Given the description of an element on the screen output the (x, y) to click on. 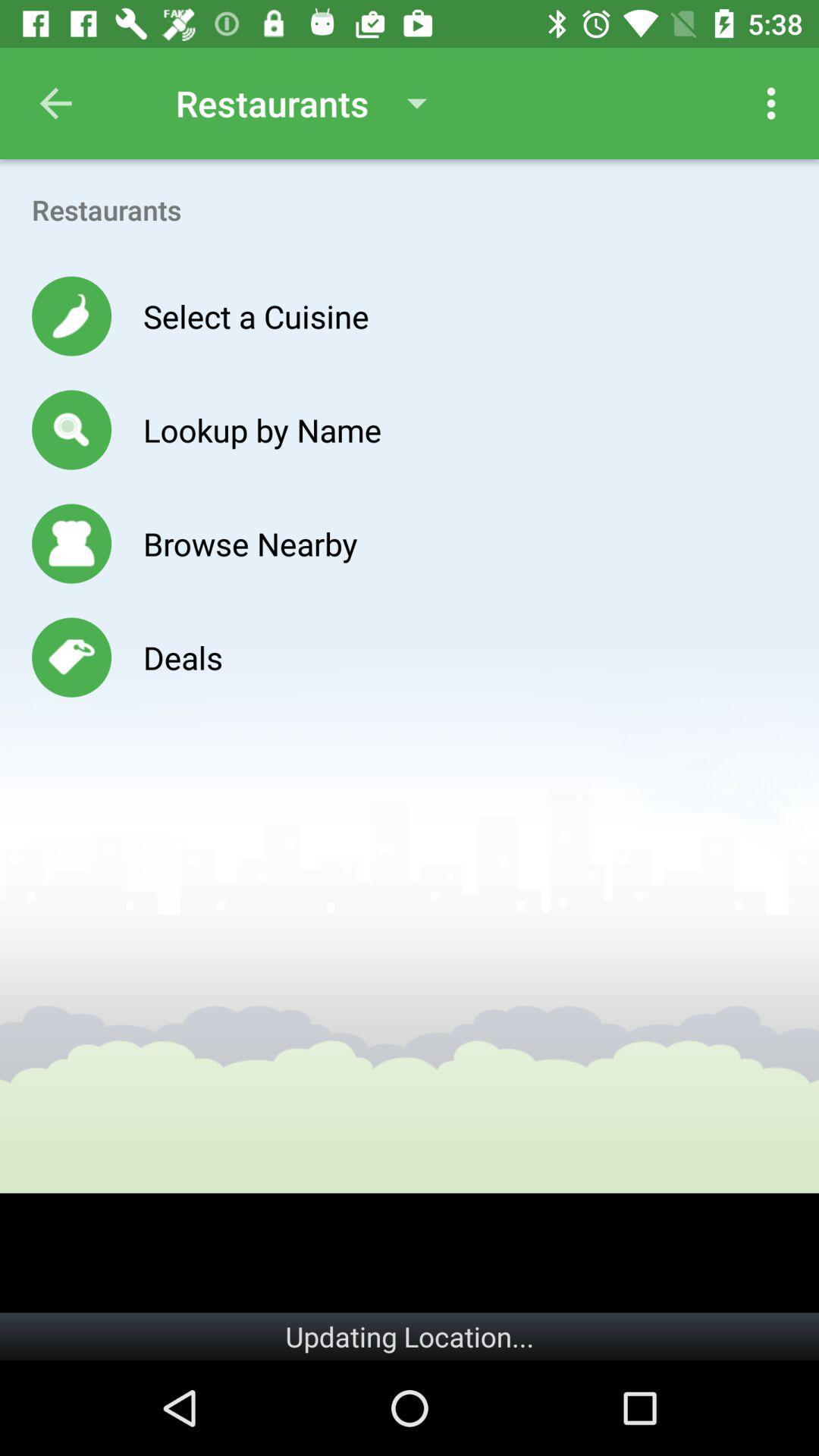
flip to deals icon (182, 657)
